Given the description of an element on the screen output the (x, y) to click on. 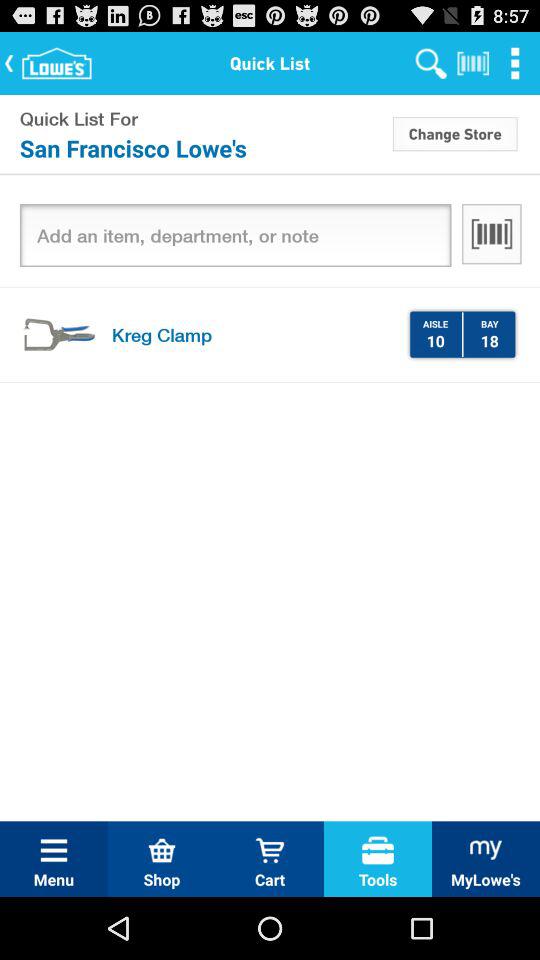
turn off the app to the right of aisle app (462, 333)
